Given the description of an element on the screen output the (x, y) to click on. 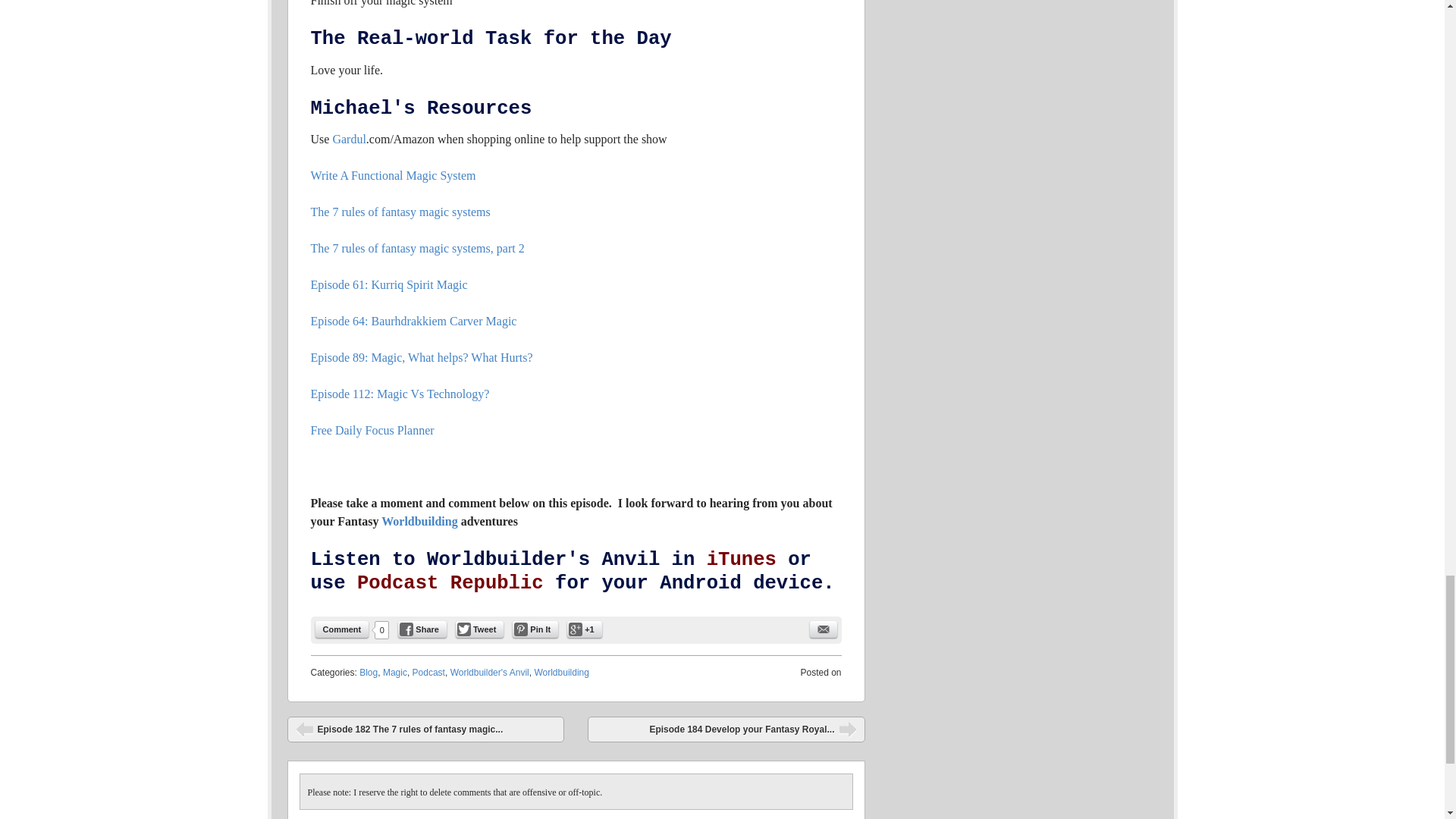
Pin it. (534, 629)
Share on Facebook (421, 629)
Tweet this Post (479, 629)
Comment on this Post (342, 629)
